Given the description of an element on the screen output the (x, y) to click on. 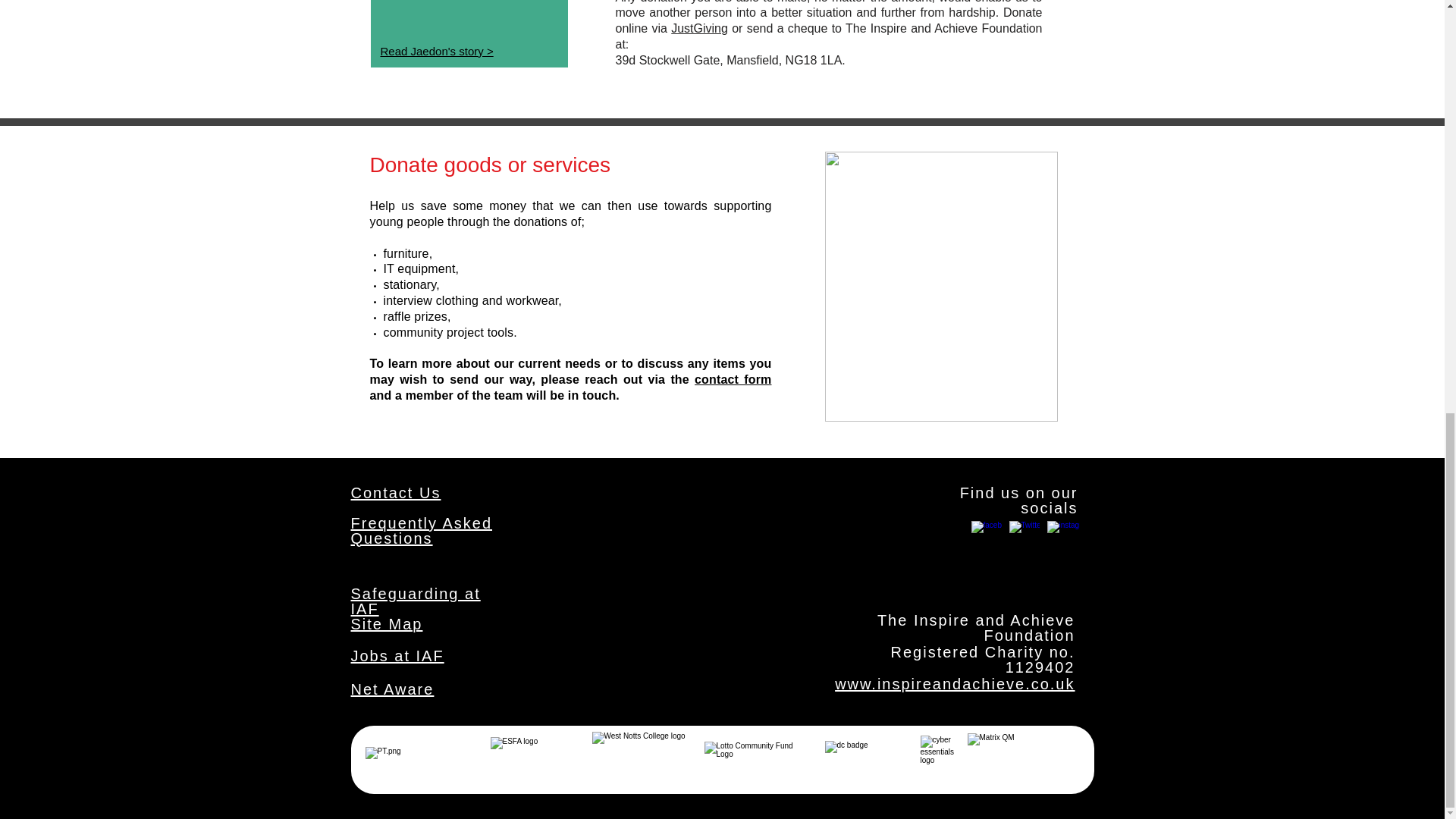
Contact Us (395, 492)
Frequently Asked Questions (421, 531)
contact form (732, 379)
Safeguarding at IAF (415, 601)
Jobs at IAF (397, 655)
Net Aware (391, 688)
Site Map (386, 623)
www.inspireandachieve.co.uk (954, 683)
JustGiving (699, 28)
